Given the description of an element on the screen output the (x, y) to click on. 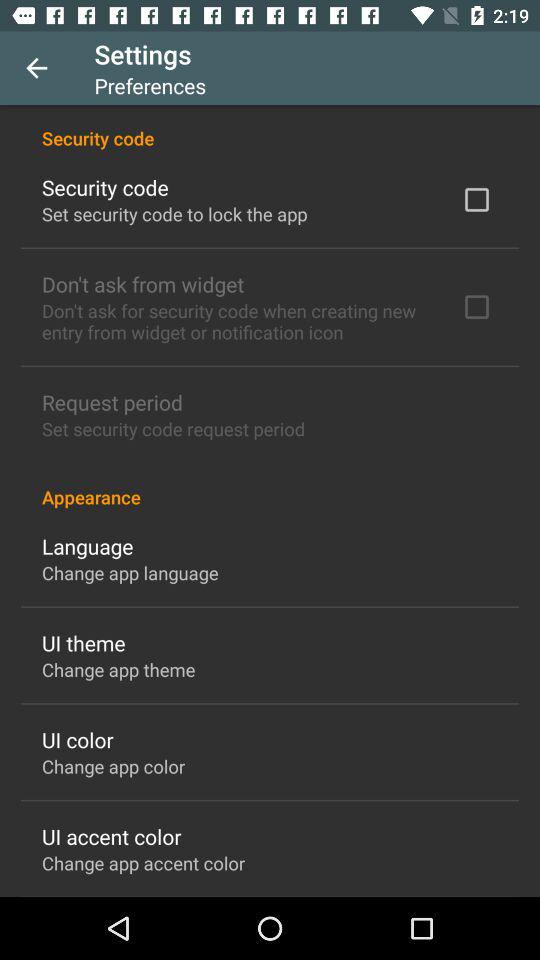
swipe until appearance item (270, 486)
